Given the description of an element on the screen output the (x, y) to click on. 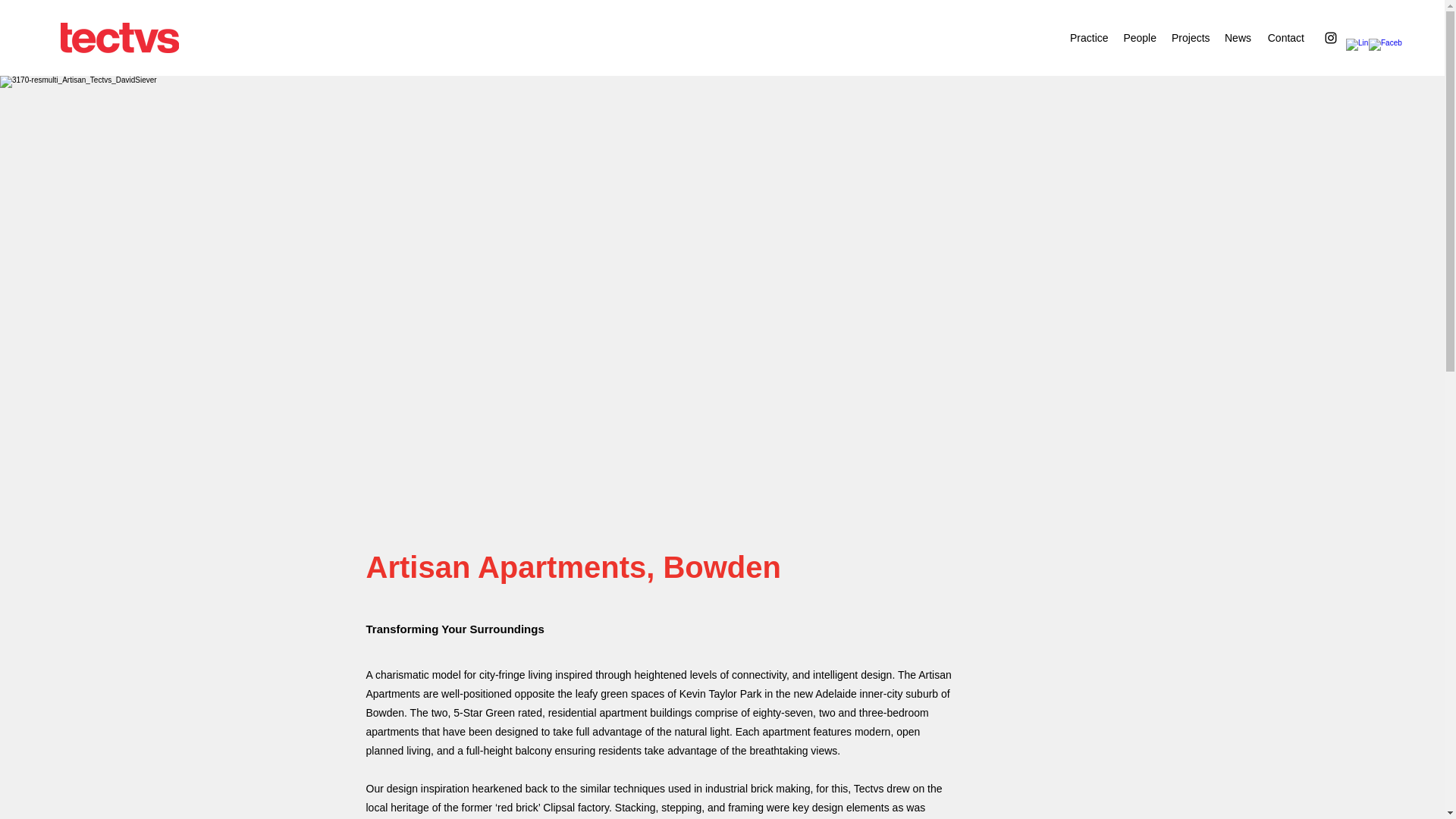
Practice (1088, 37)
Projects (1190, 37)
News (1238, 37)
Contact (1285, 37)
People (1139, 37)
